Given the description of an element on the screen output the (x, y) to click on. 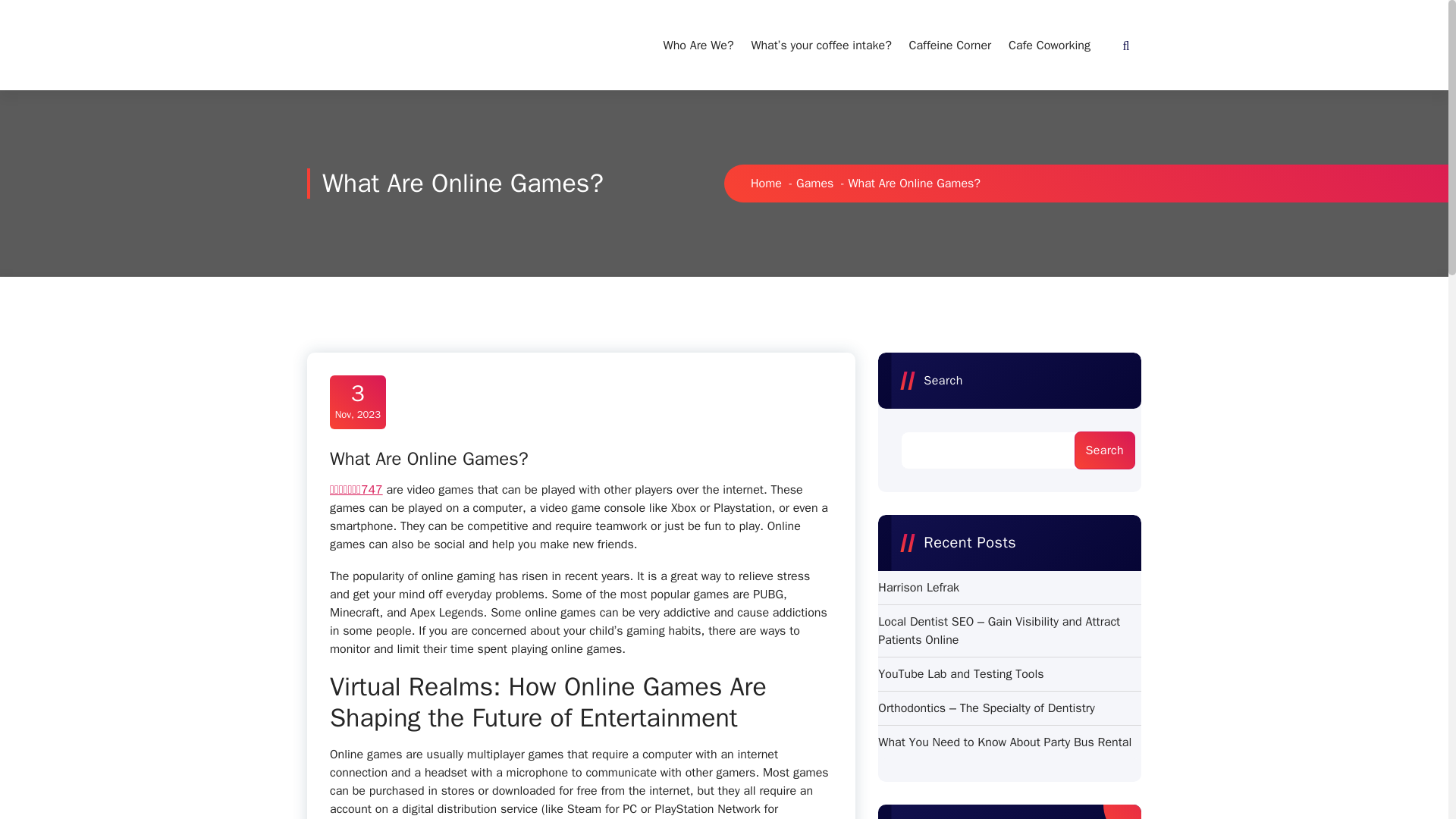
Home (766, 183)
Caffeine Corner (357, 401)
Who Are We? (950, 45)
Who Are We? (697, 45)
Cafe Coworking (697, 45)
KC Coffee Girls (1048, 45)
Caffeine Corner (366, 45)
Cafe Coworking (950, 45)
Harrison Lefrak (1048, 45)
